Given the description of an element on the screen output the (x, y) to click on. 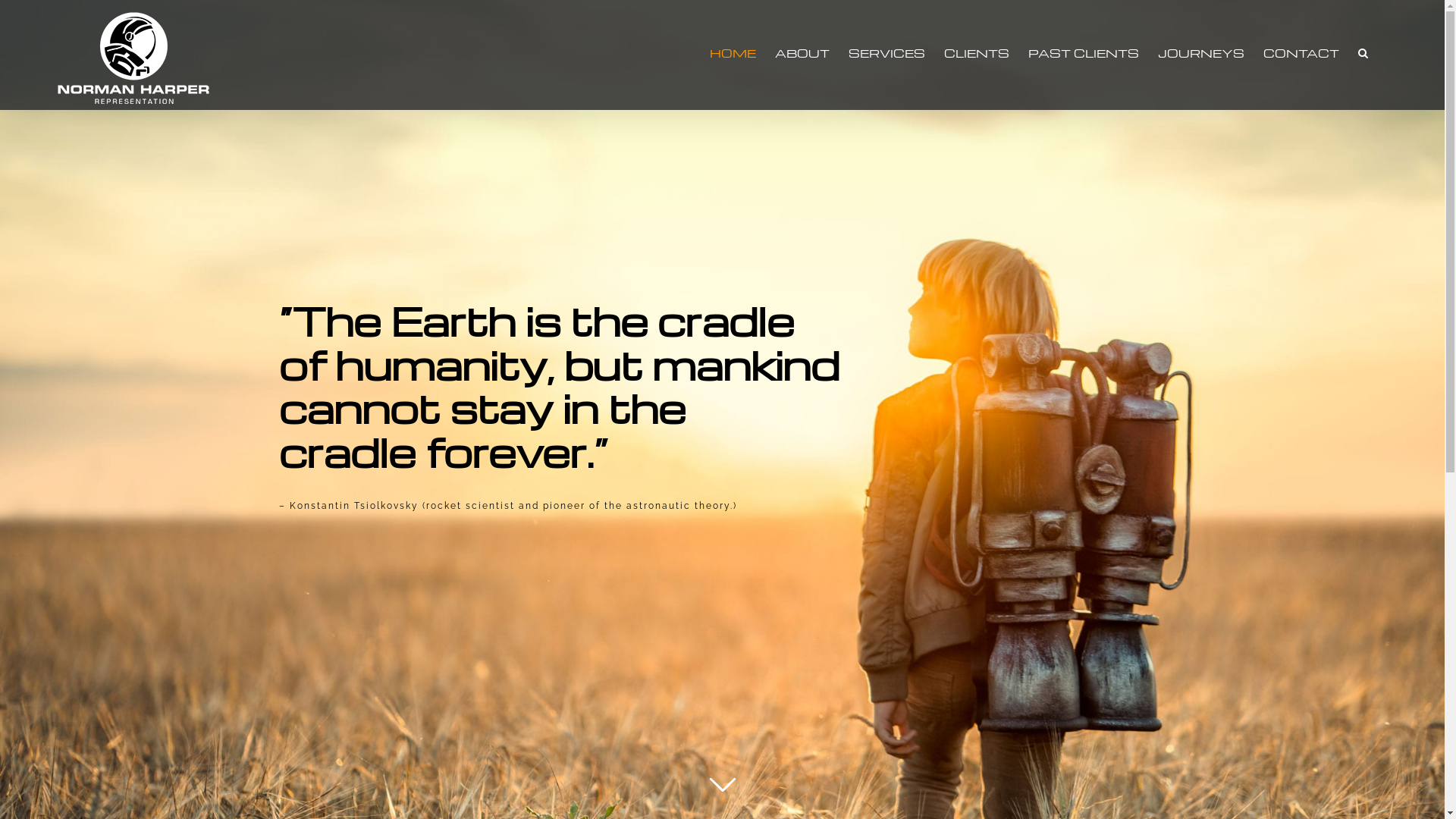
SERVICES Element type: text (886, 53)
Search Element type: hover (1363, 53)
ABOUT Element type: text (802, 53)
PAST CLIENTS Element type: text (1083, 53)
HOME Element type: text (732, 53)
JOURNEYS Element type: text (1200, 53)
CLIENTS Element type: text (976, 53)
CONTACT Element type: text (1301, 53)
